Given the description of an element on the screen output the (x, y) to click on. 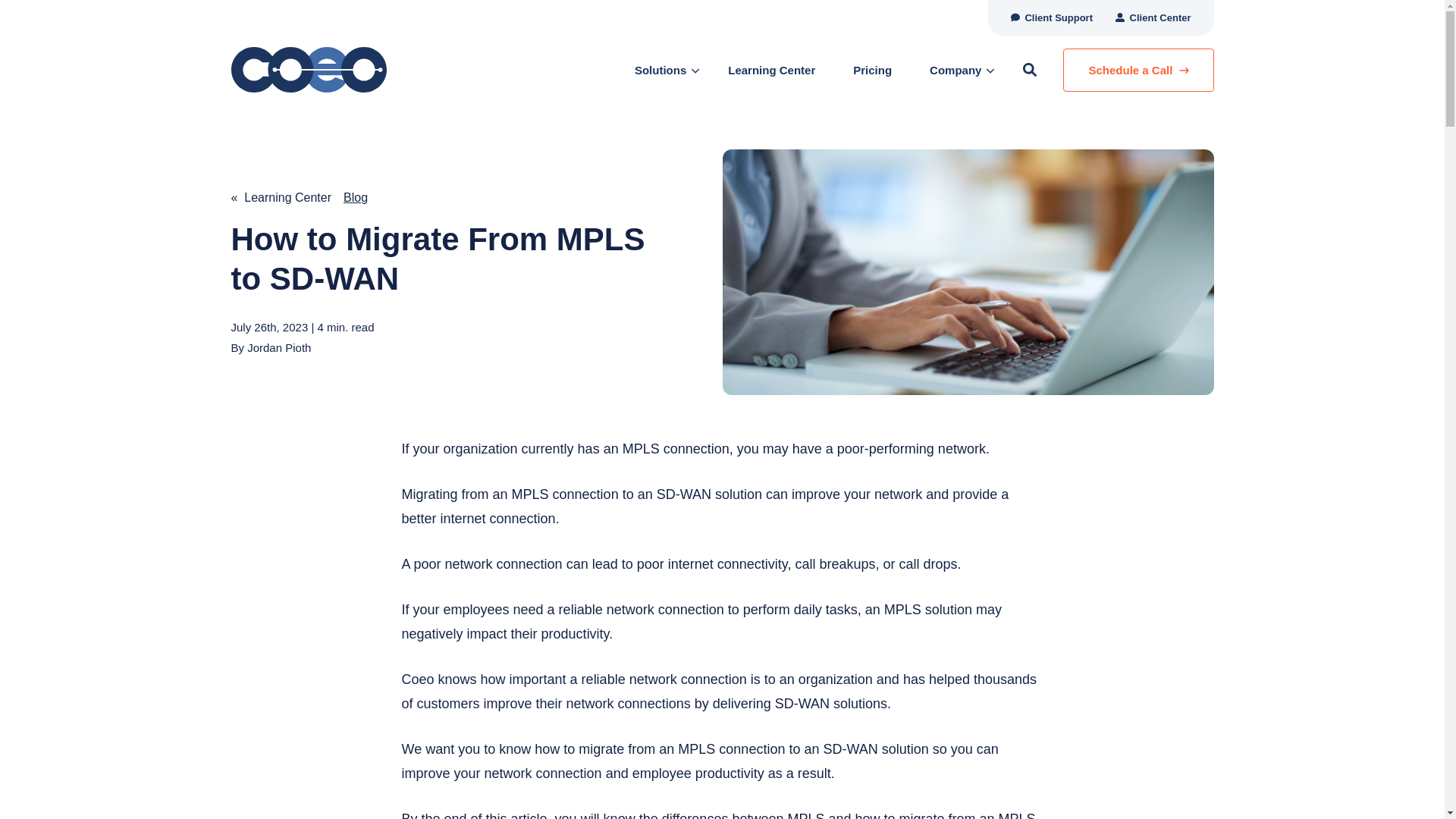
Blog (355, 197)
Client Center (1152, 18)
Schedule a Call (1137, 69)
Coeo (337, 69)
Learning Center (771, 70)
Open Search (1028, 69)
Client Support (1050, 18)
Pricing (872, 70)
Jordan Pioth (279, 347)
Open Search (1028, 69)
